Given the description of an element on the screen output the (x, y) to click on. 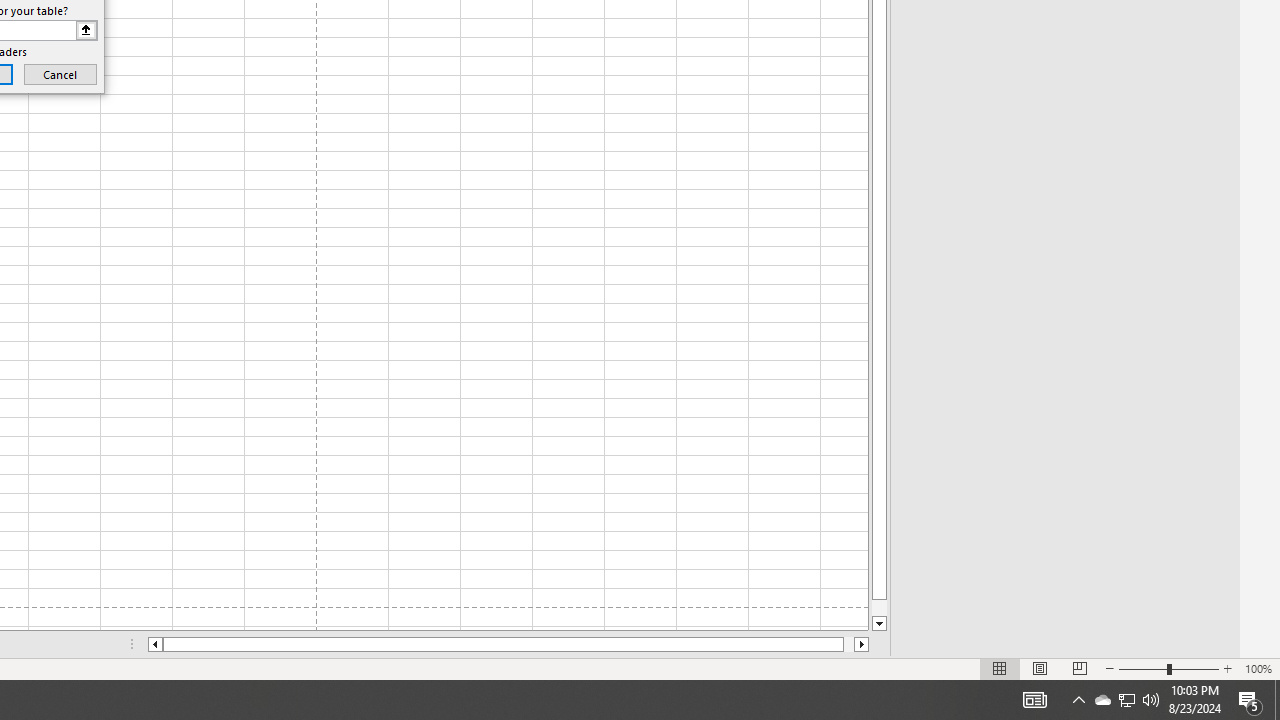
Zoom In (1227, 668)
Page Break Preview (1079, 668)
Column left (153, 644)
Line down (879, 624)
Page down (879, 607)
Column right (861, 644)
Class: NetUIScrollBar (507, 644)
Page right (848, 644)
Zoom (1168, 668)
Zoom Out (1142, 668)
